Given the description of an element on the screen output the (x, y) to click on. 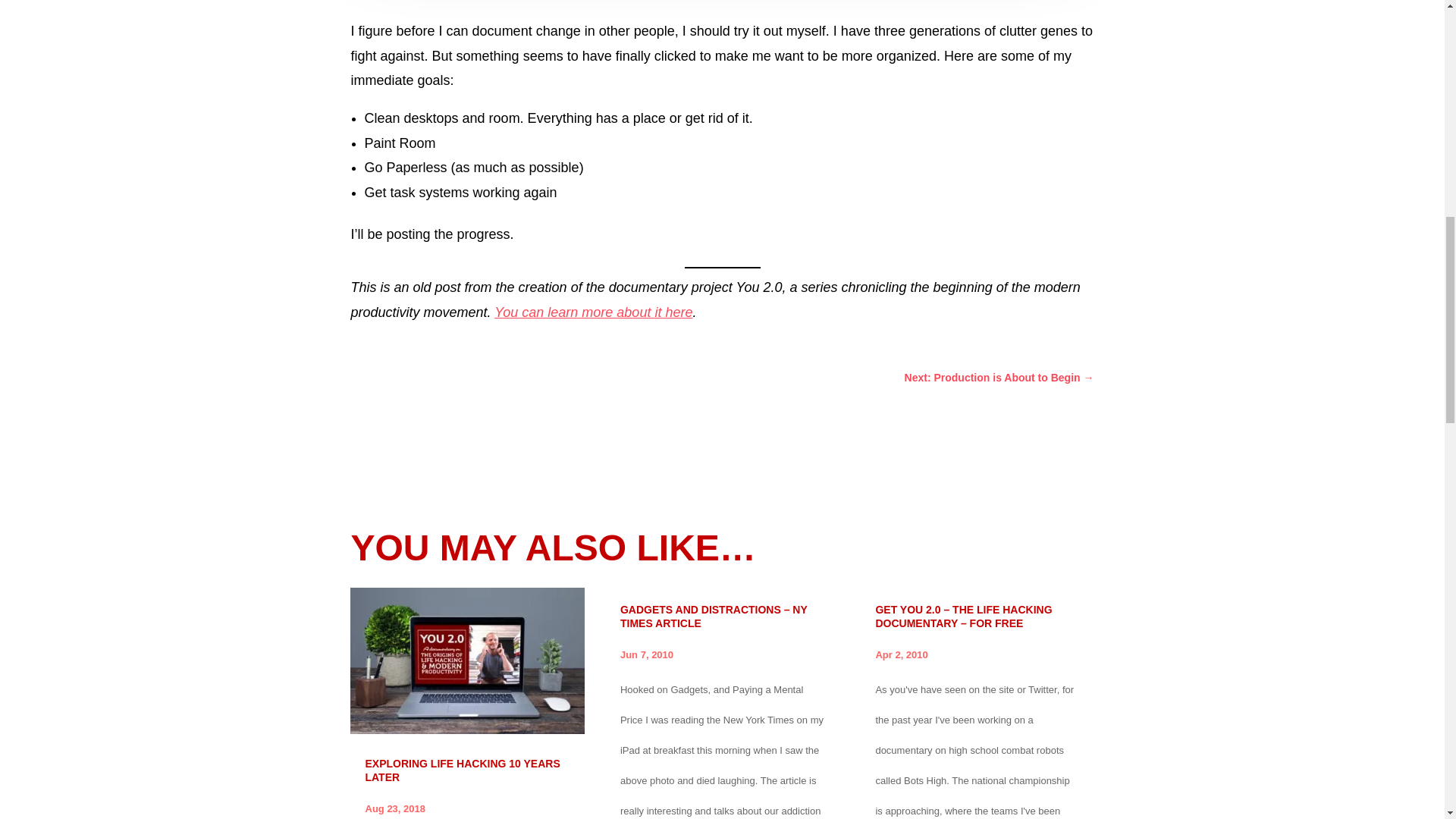
EXPLORING LIFE HACKING 10 YEARS LATER (462, 769)
You can learn more about it here (594, 312)
